Given the description of an element on the screen output the (x, y) to click on. 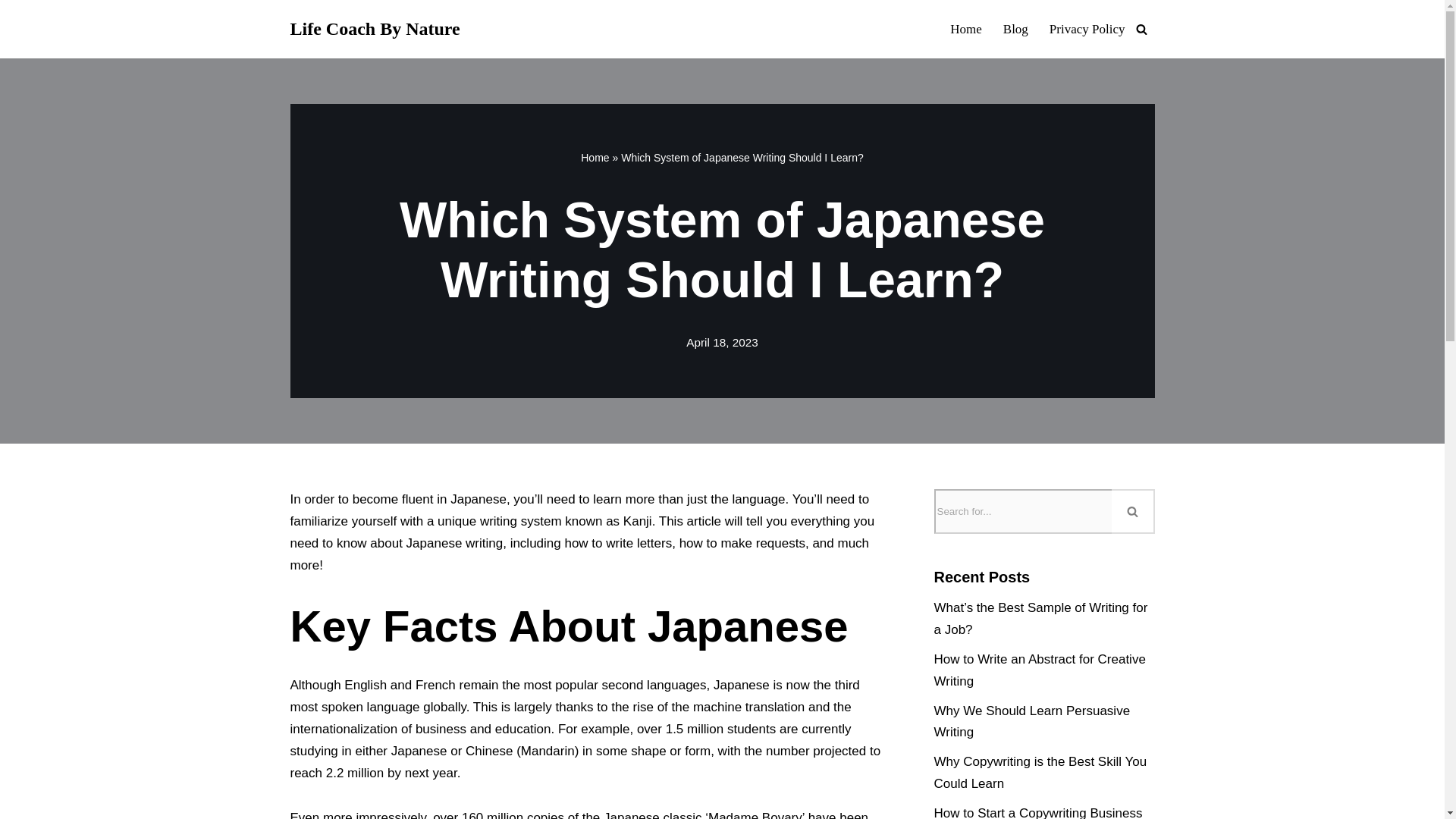
Life Coach By Nature (374, 29)
Home (594, 157)
Skip to content (11, 31)
Life Coach By Nature (374, 29)
How to Start a Copywriting Business (1038, 812)
Why We Should Learn Persuasive Writing (1032, 721)
How to Write an Abstract for Creative Writing (1039, 669)
Blog (1015, 28)
Home (965, 28)
Why Copywriting is the Best Skill You Could Learn (1040, 772)
